Given the description of an element on the screen output the (x, y) to click on. 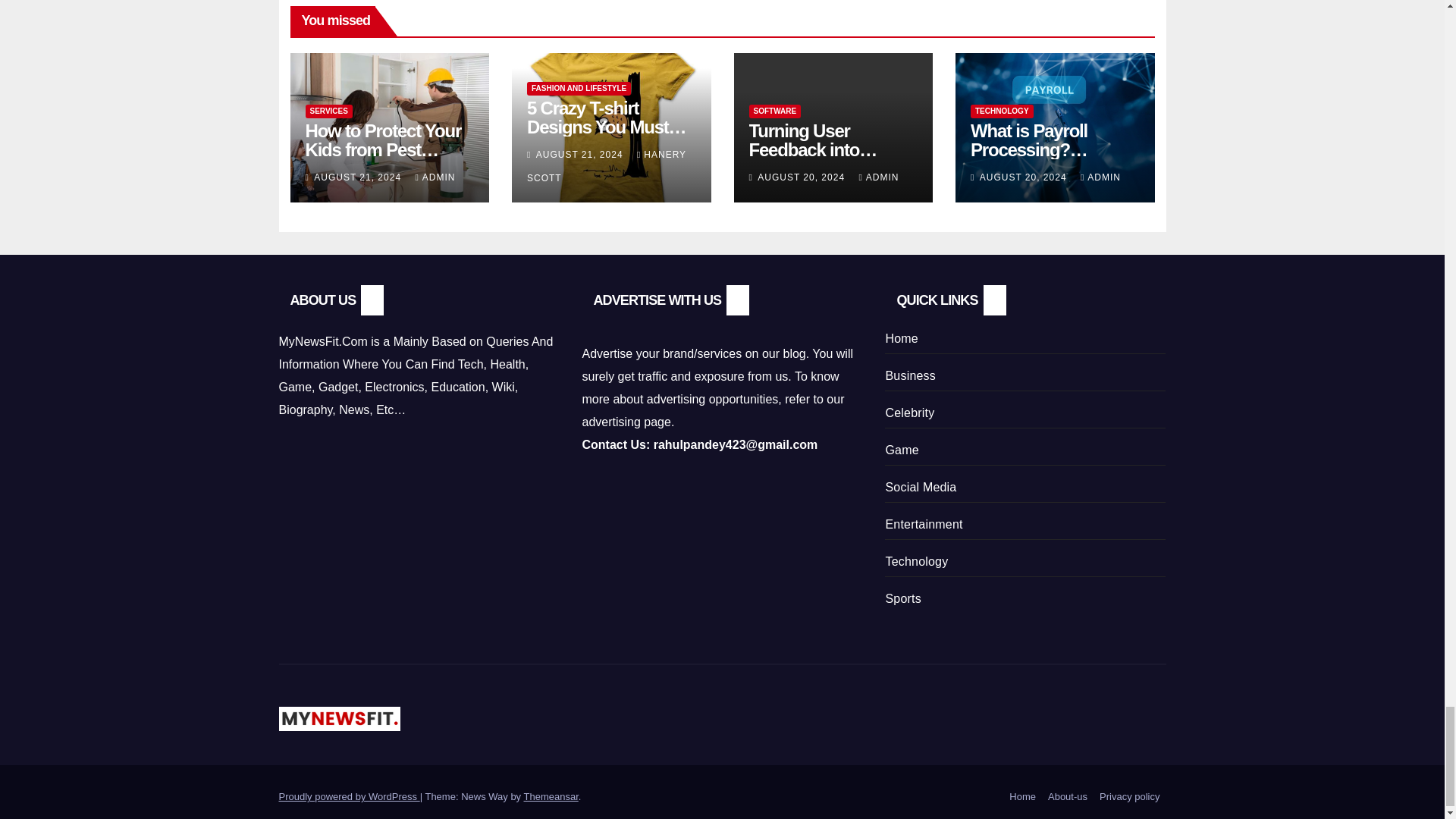
Permalink to: 5 Crazy T-shirt Designs You Must Have (607, 126)
